Given the description of an element on the screen output the (x, y) to click on. 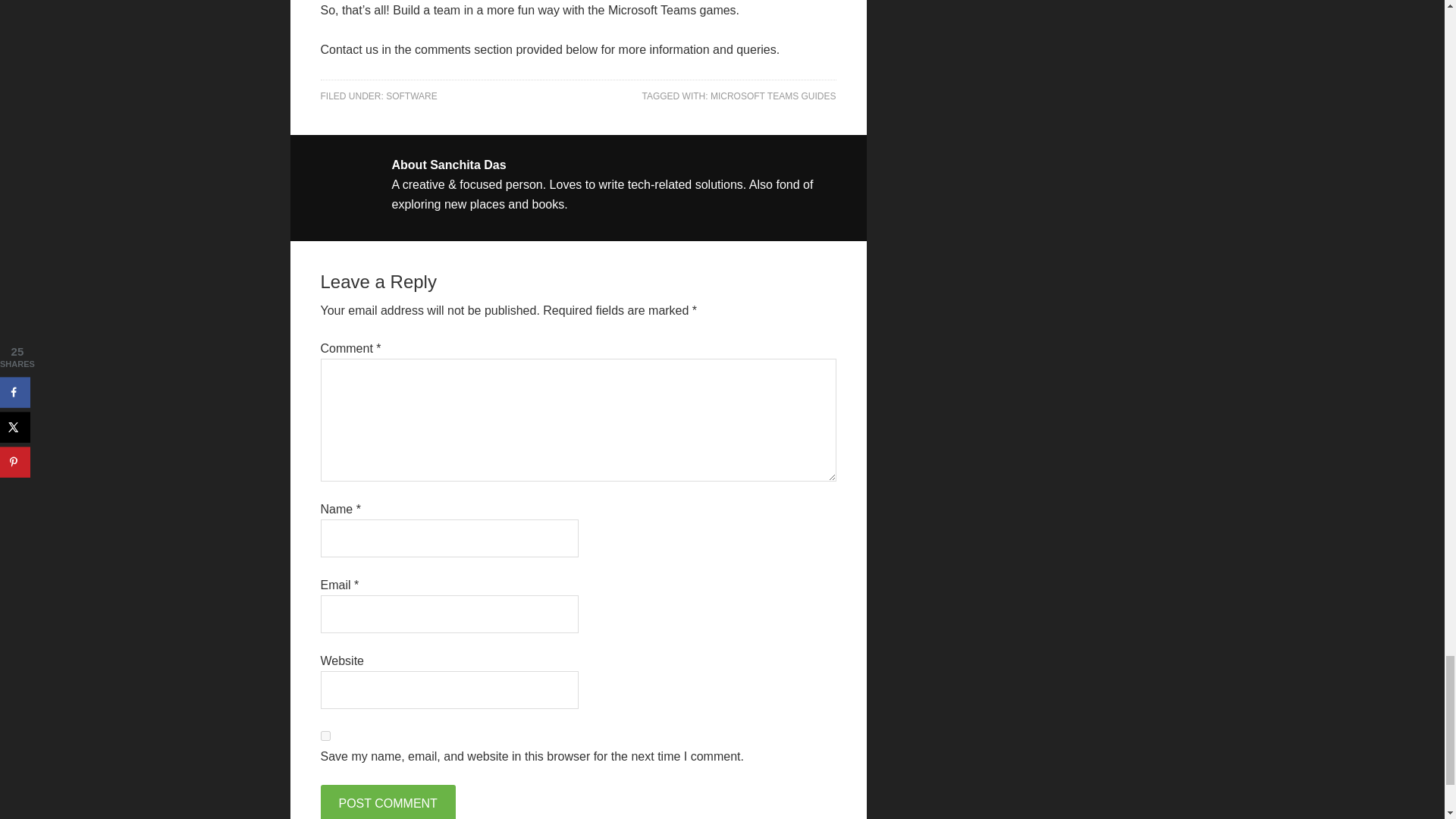
SOFTWARE (411, 95)
yes (325, 736)
Post Comment (387, 801)
MICROSOFT TEAMS GUIDES (772, 95)
Post Comment (387, 801)
